Given the description of an element on the screen output the (x, y) to click on. 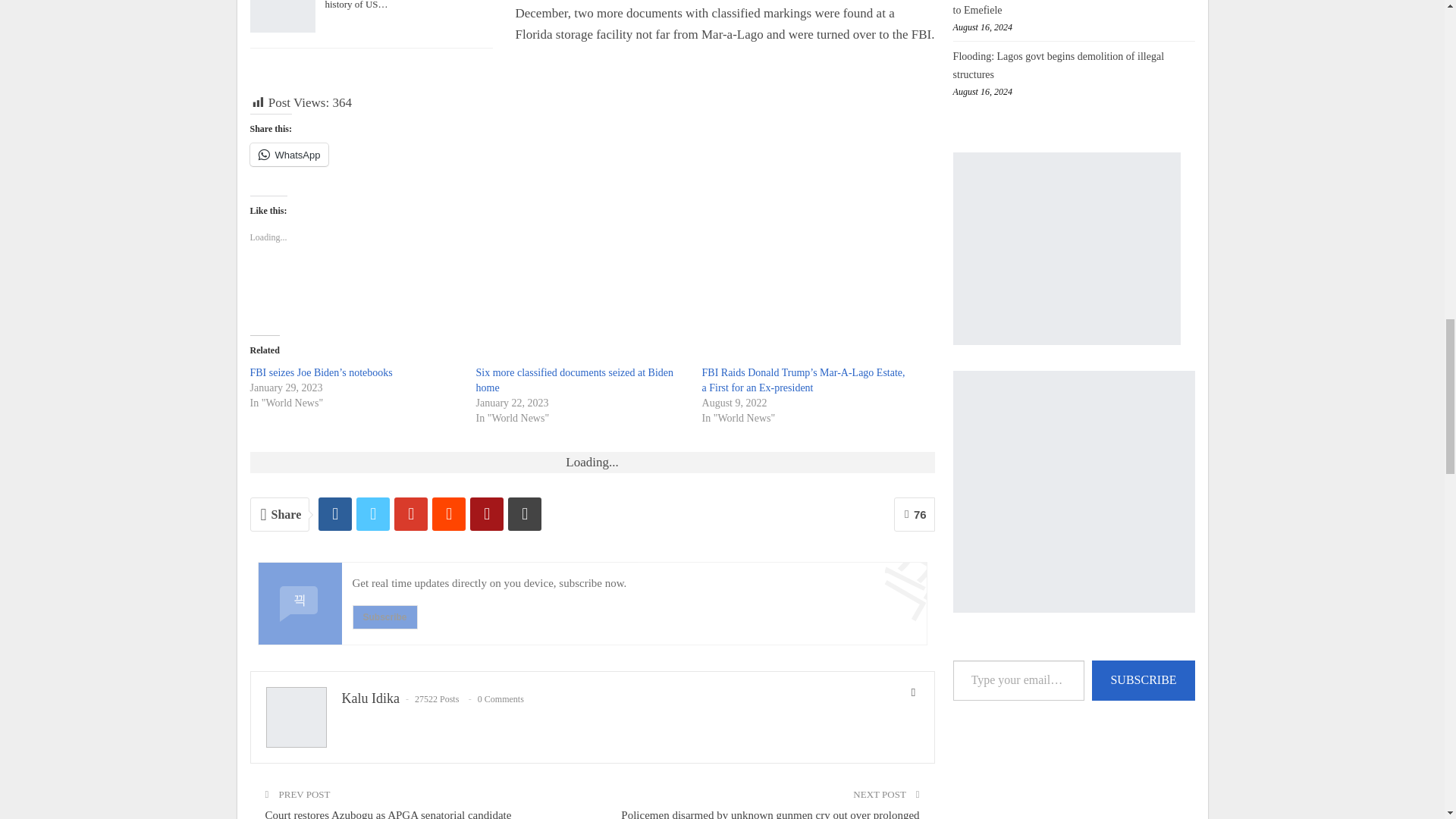
Like or Reblog (592, 288)
Click to share on WhatsApp (289, 154)
Six more classified documents seized at Biden home (575, 379)
